Given the description of an element on the screen output the (x, y) to click on. 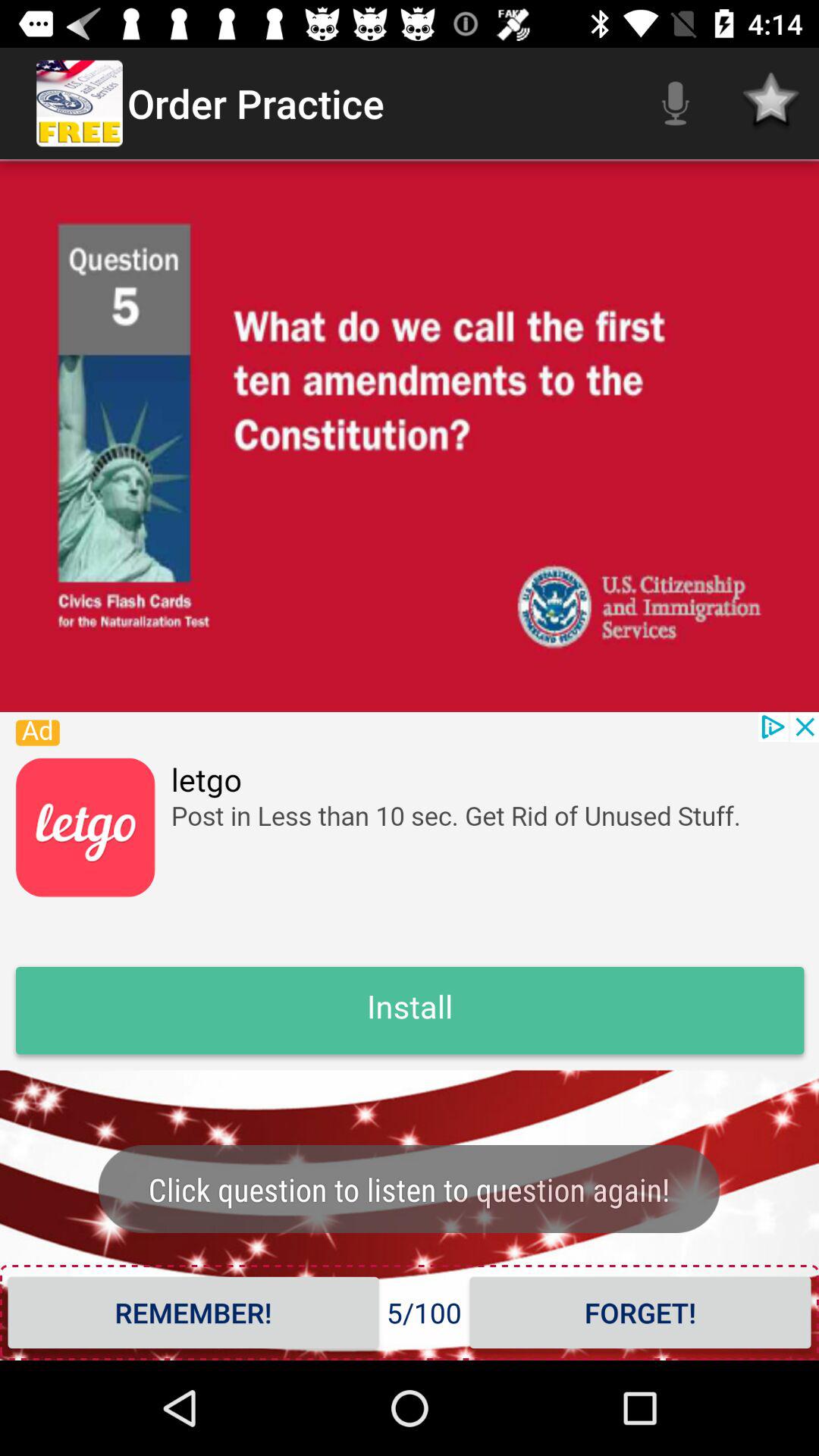
banner (409, 891)
